Given the description of an element on the screen output the (x, y) to click on. 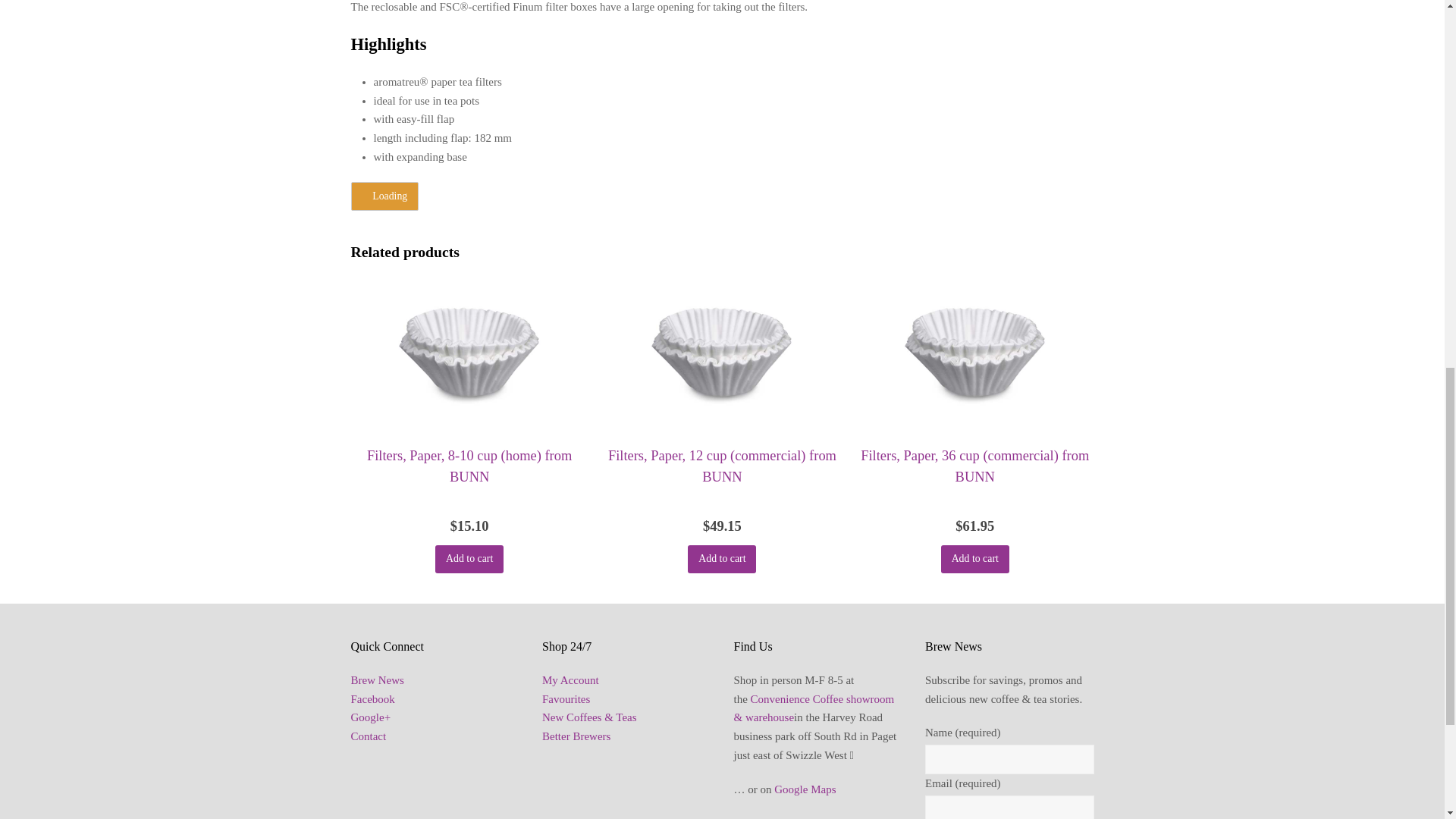
Facebook (372, 698)
Add to cart (721, 559)
Loading (384, 196)
Contact (367, 736)
Add to cart (974, 559)
Brew News (376, 680)
Add to cart (469, 559)
